Given the description of an element on the screen output the (x, y) to click on. 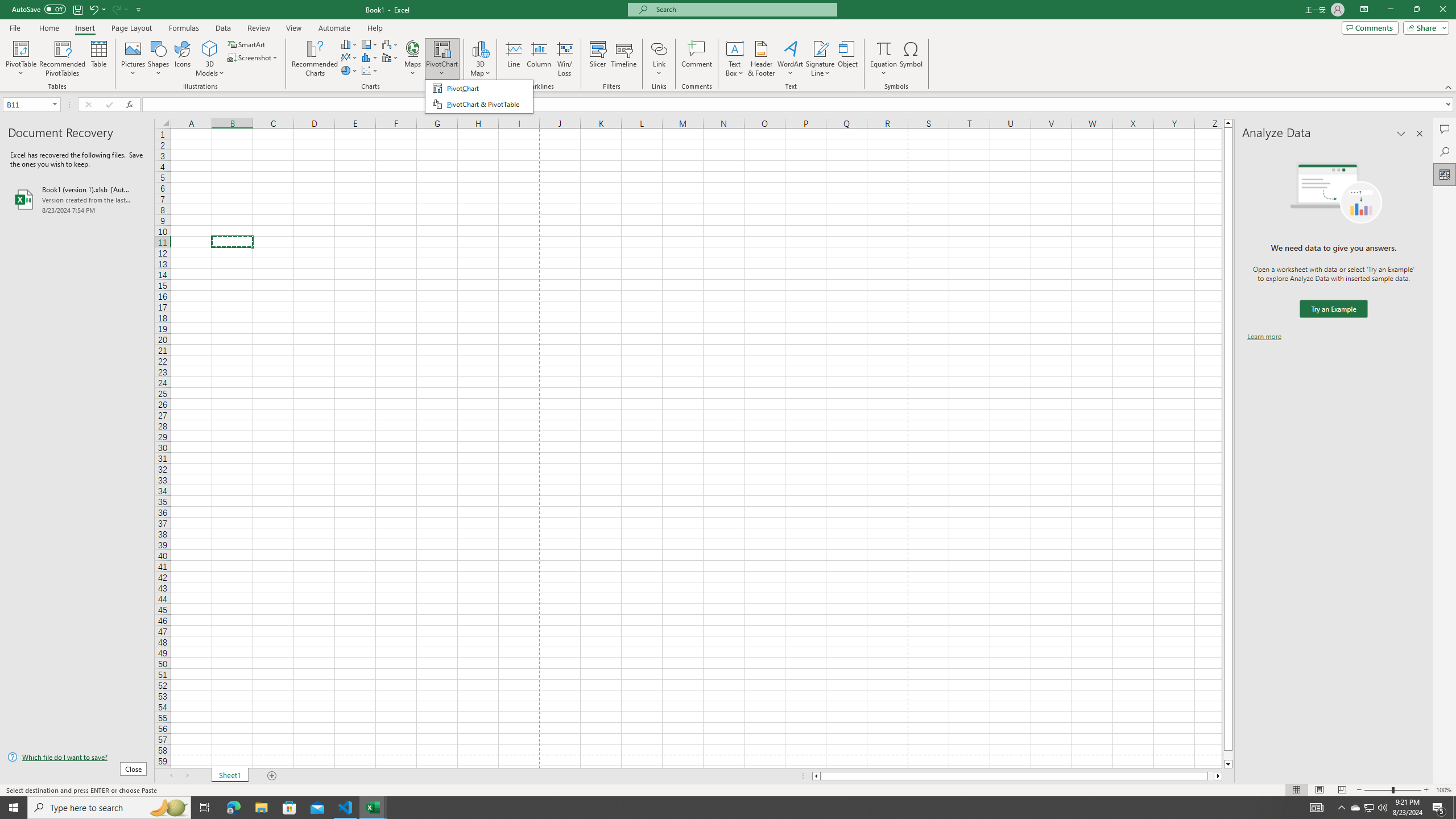
Equation (883, 48)
Scroll Left (171, 775)
Maps (412, 58)
Object... (847, 58)
Shapes (158, 58)
Insert Pie or Doughnut Chart (349, 69)
Running applications (717, 807)
Close pane (1419, 133)
Comments (1444, 128)
Zoom (1392, 790)
AutomationID: 4105 (1316, 807)
WordArt (790, 58)
Scroll Right (187, 775)
